Given the description of an element on the screen output the (x, y) to click on. 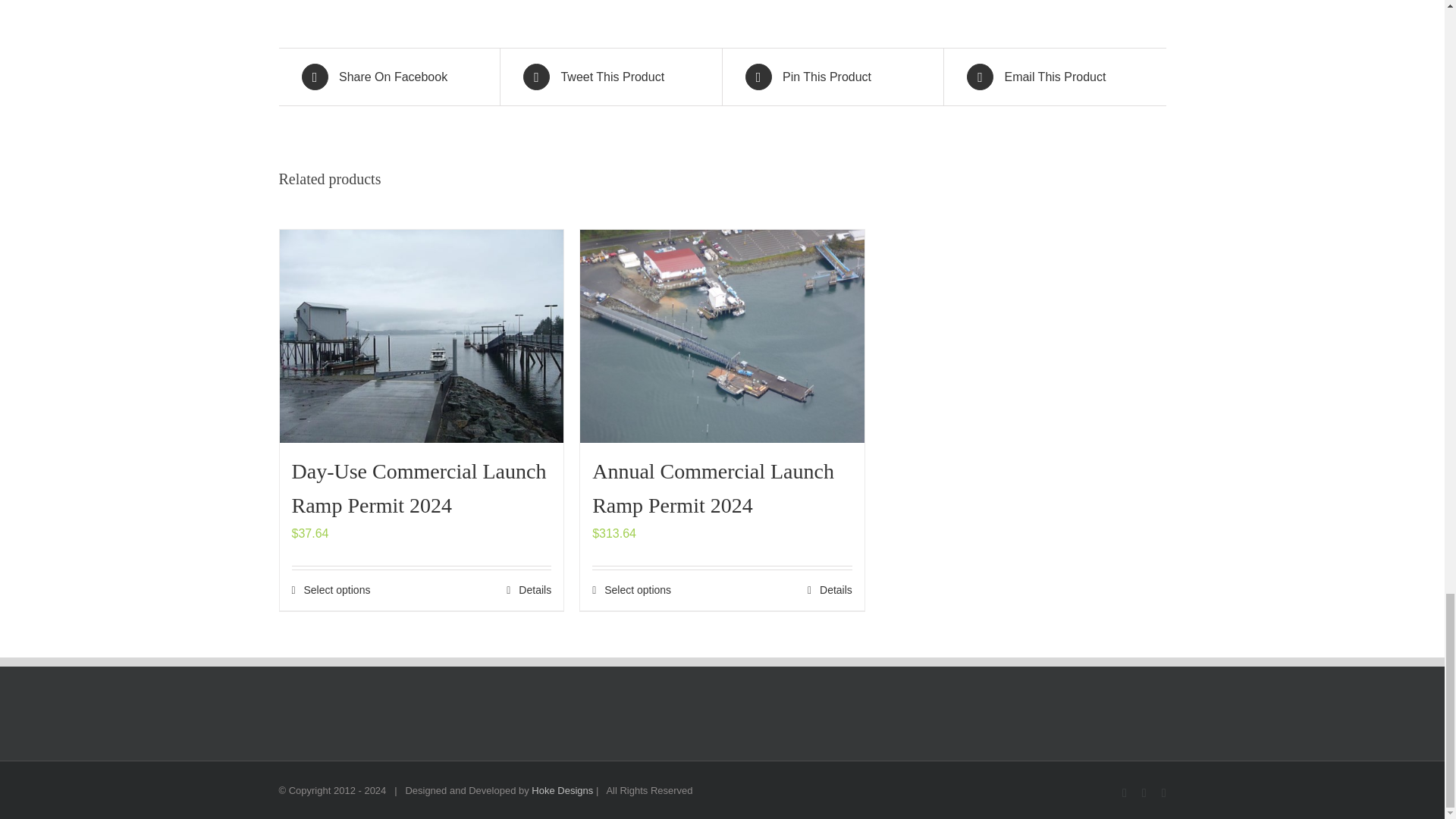
Select options (631, 590)
Details (528, 590)
Tweet This Product (610, 76)
Annual Commercial Launch Ramp Permit 2024 (713, 487)
Day-Use Commercial Launch Ramp Permit 2024 (418, 487)
Details (829, 590)
Share On Facebook (389, 76)
Email This Product (1054, 76)
Select options (330, 590)
Pin This Product (832, 76)
